Given the description of an element on the screen output the (x, y) to click on. 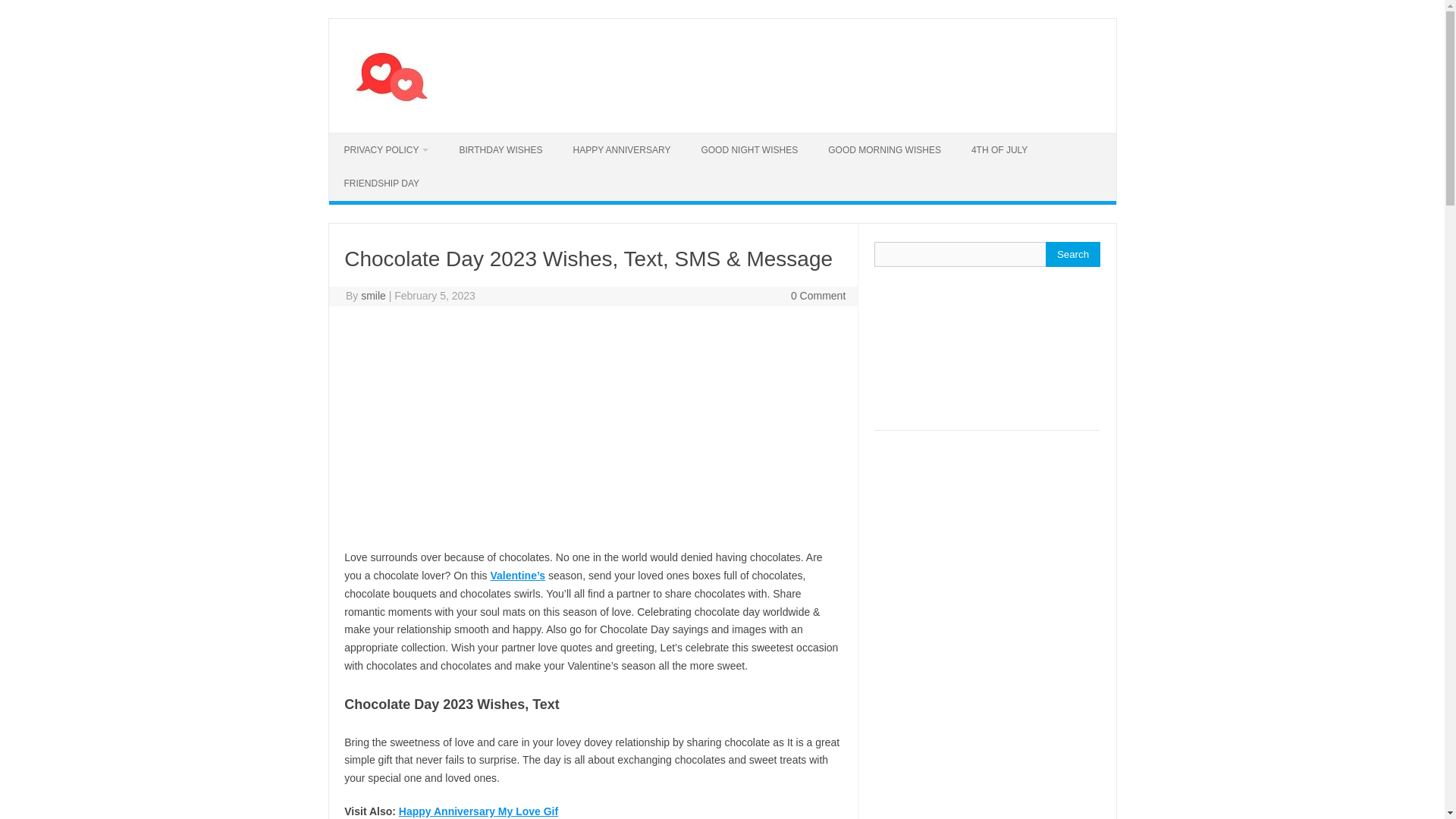
Advertisement (592, 427)
Search (1072, 253)
0 Comment (817, 295)
Happy Anniversary My Love Gif (477, 811)
Happy Wishes (394, 106)
4TH OF JULY (999, 150)
BIRTHDAY WISHES (500, 150)
GOOD MORNING WISHES (884, 150)
smile (373, 295)
PRIVACY POLICY (386, 150)
